Given the description of an element on the screen output the (x, y) to click on. 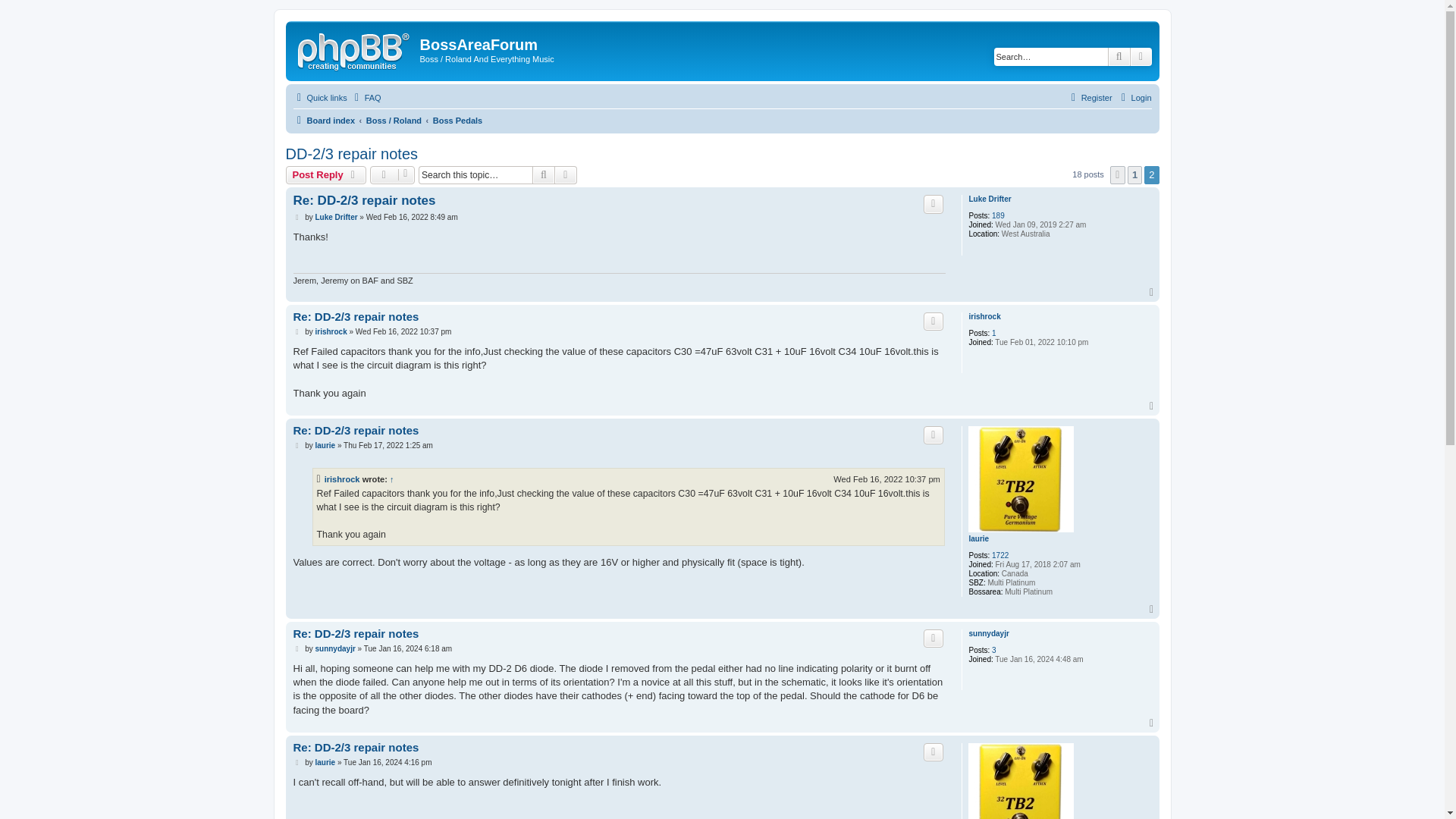
Frequently Asked Questions (365, 97)
Boss Pedals (456, 120)
Post a reply (325, 175)
Boss Pedals (456, 120)
Luke Drifter (989, 198)
Luke Drifter (335, 216)
Advanced search (1141, 56)
Quote (933, 203)
Board index (323, 120)
Search for keywords (1051, 56)
Board index (323, 120)
Post (297, 216)
Top (1151, 292)
Board index (354, 49)
Post (297, 331)
